Given the description of an element on the screen output the (x, y) to click on. 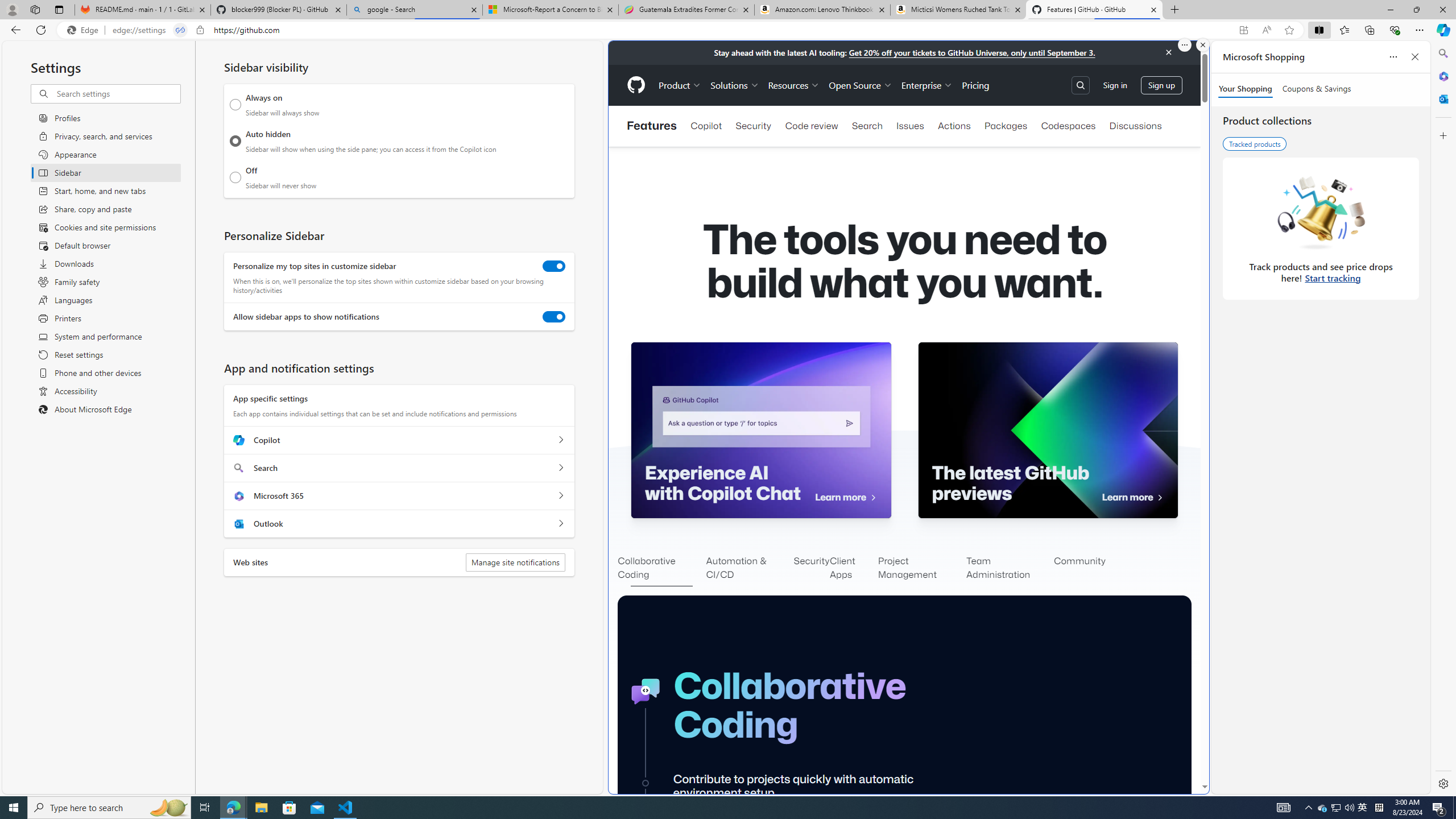
Issues (910, 125)
google - Search (414, 9)
Community (1079, 568)
Automation & CI/CD (749, 568)
Client Apps (853, 568)
Close split screen. (1202, 45)
Resources (793, 84)
Features (651, 125)
More options. (1183, 45)
Product (679, 84)
Packages (1005, 125)
